Given the description of an element on the screen output the (x, y) to click on. 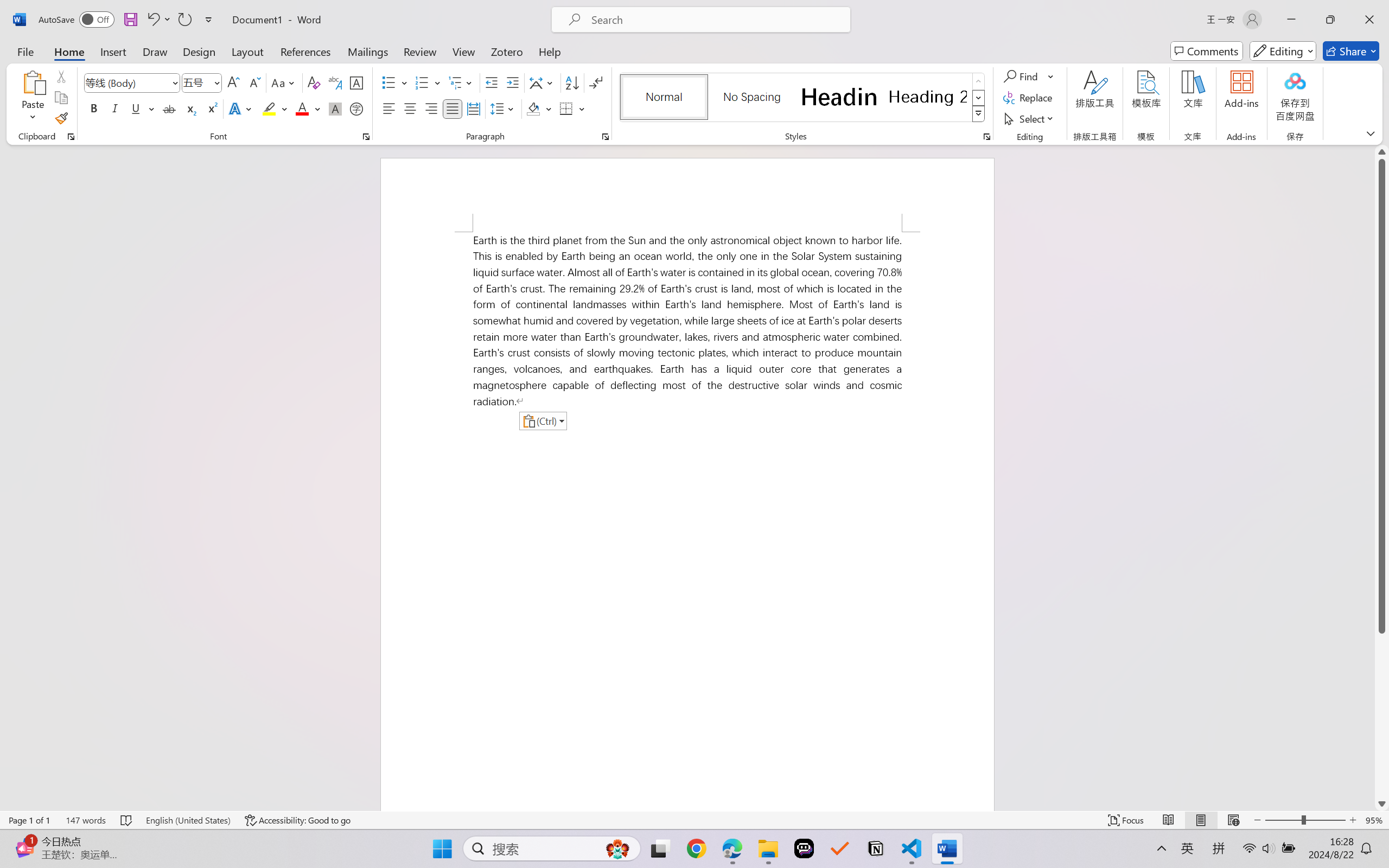
Character Border (356, 82)
Text Highlight Color Yellow (269, 108)
Text Highlight Color (274, 108)
Shading RGB(0, 0, 0) (533, 108)
Show/Hide Editing Marks (595, 82)
Bold (94, 108)
